Given the description of an element on the screen output the (x, y) to click on. 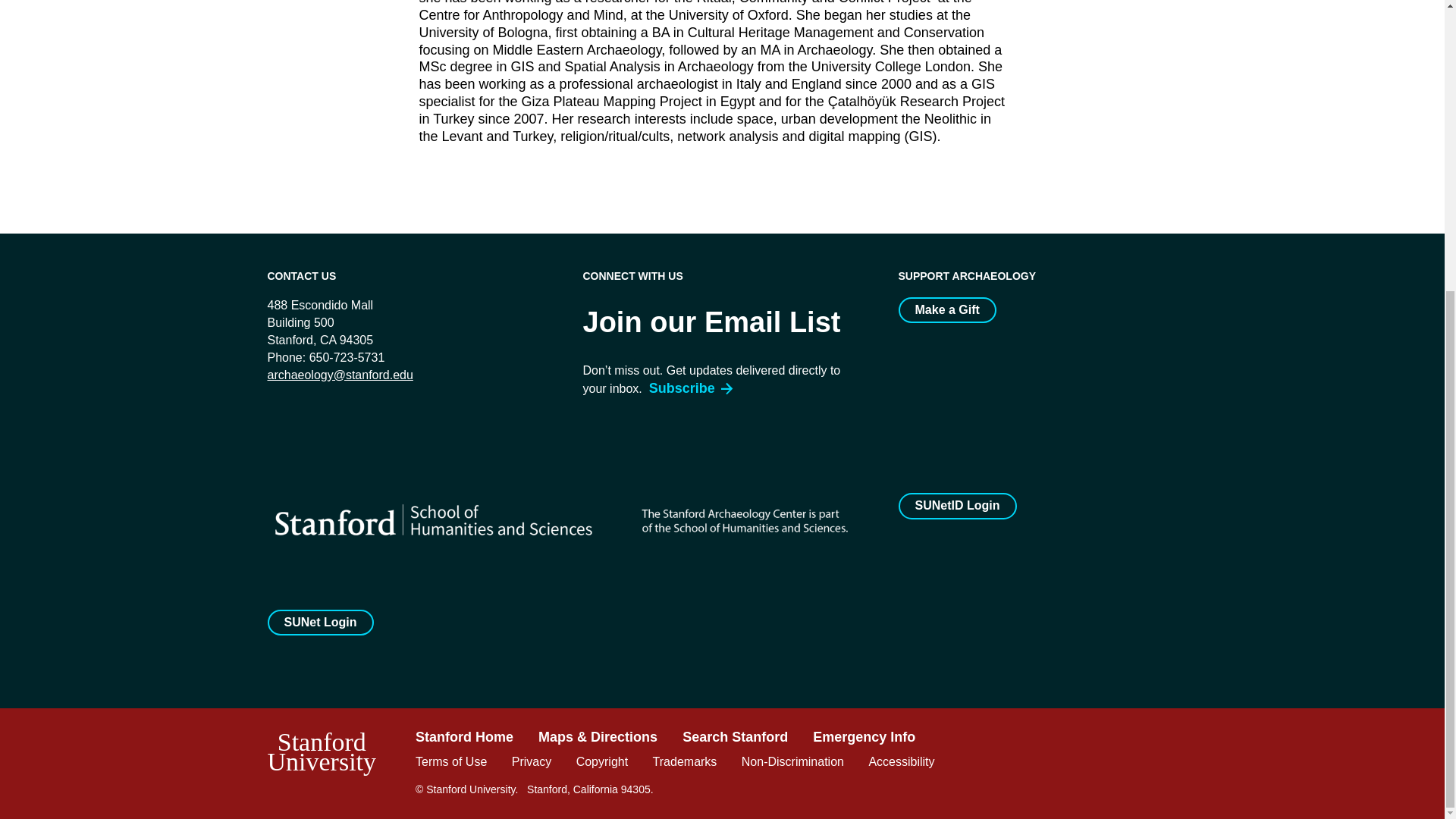
Terms of use for sites (450, 761)
Report alleged copyright infringement (601, 761)
Ownership and use of Stanford trademarks and images (684, 761)
Report web accessibility issues (900, 761)
Privacy and cookie policy (531, 761)
Non-discrimination policy (792, 761)
